Given the description of an element on the screen output the (x, y) to click on. 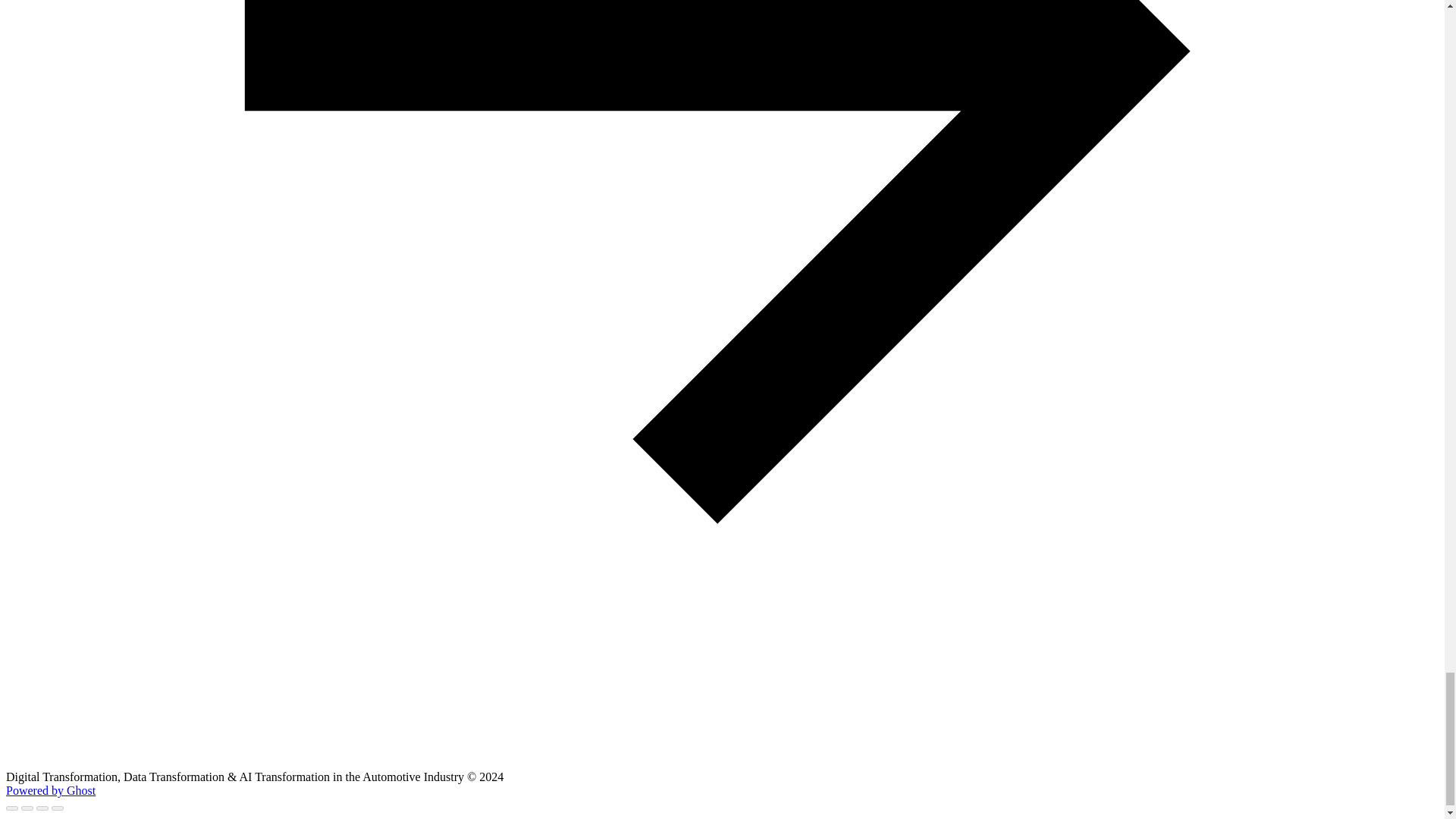
Share (27, 807)
Toggle fullscreen (42, 807)
Powered by Ghost (50, 789)
